Given the description of an element on the screen output the (x, y) to click on. 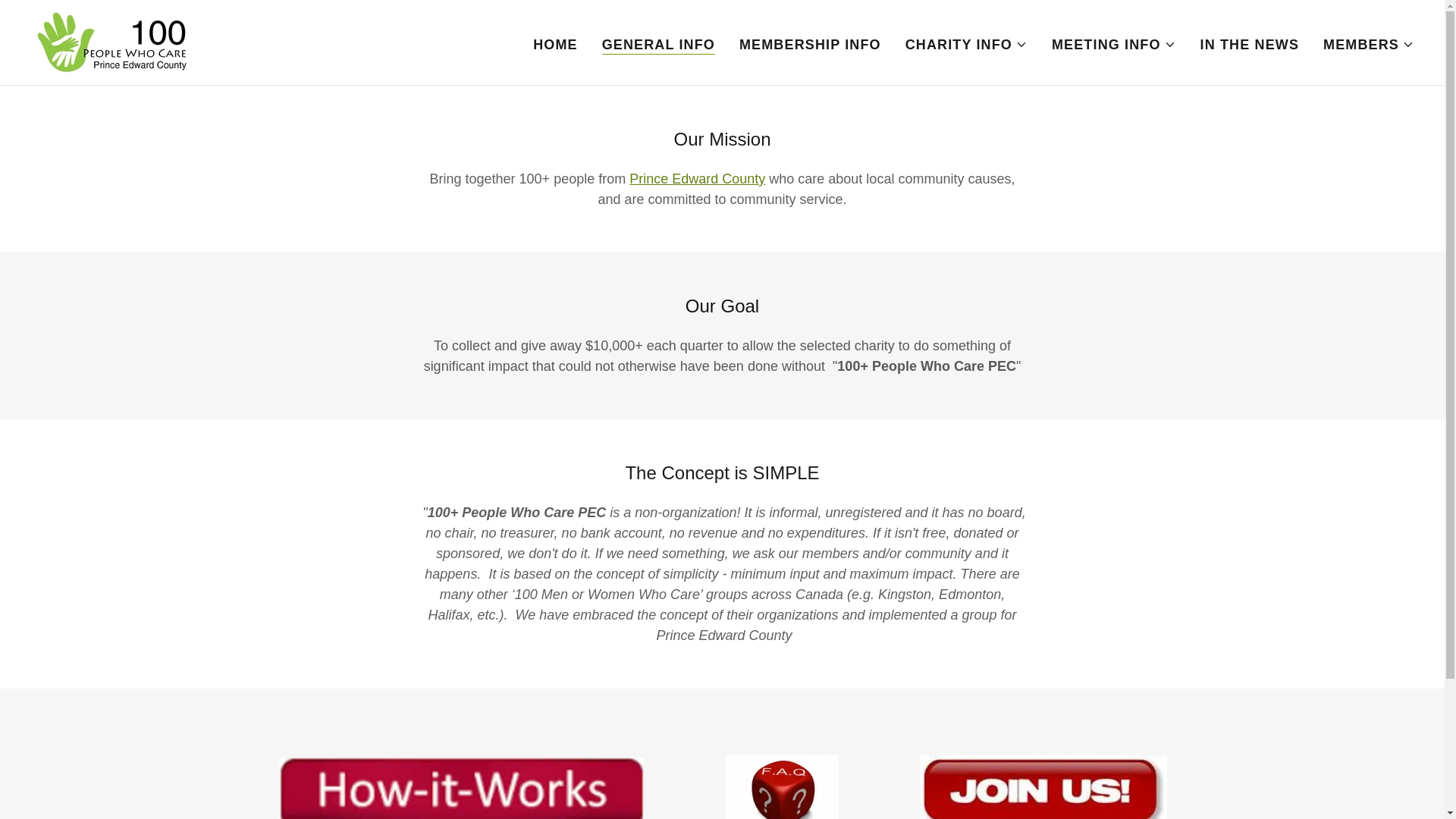
100 People Who Care Prince Edw (109, 41)
CHARITY INFO (966, 44)
GENERAL INFO (658, 44)
HOME (555, 43)
MEETING INFO (1113, 44)
MEMBERS (1368, 44)
MEMBERSHIP INFO (810, 43)
IN THE NEWS (1249, 43)
